Given the description of an element on the screen output the (x, y) to click on. 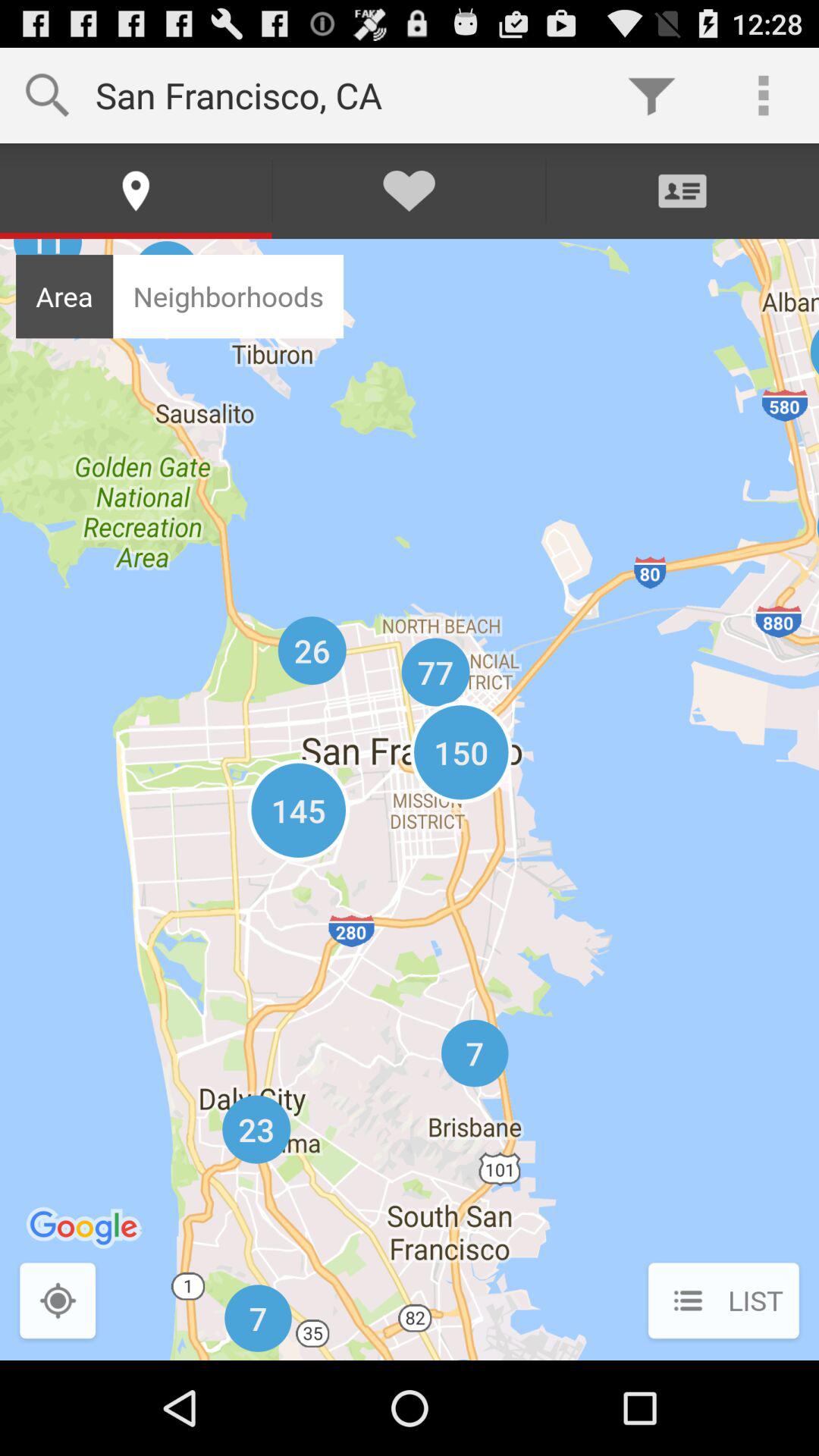
open app next to the san francisco, ca icon (651, 95)
